Given the description of an element on the screen output the (x, y) to click on. 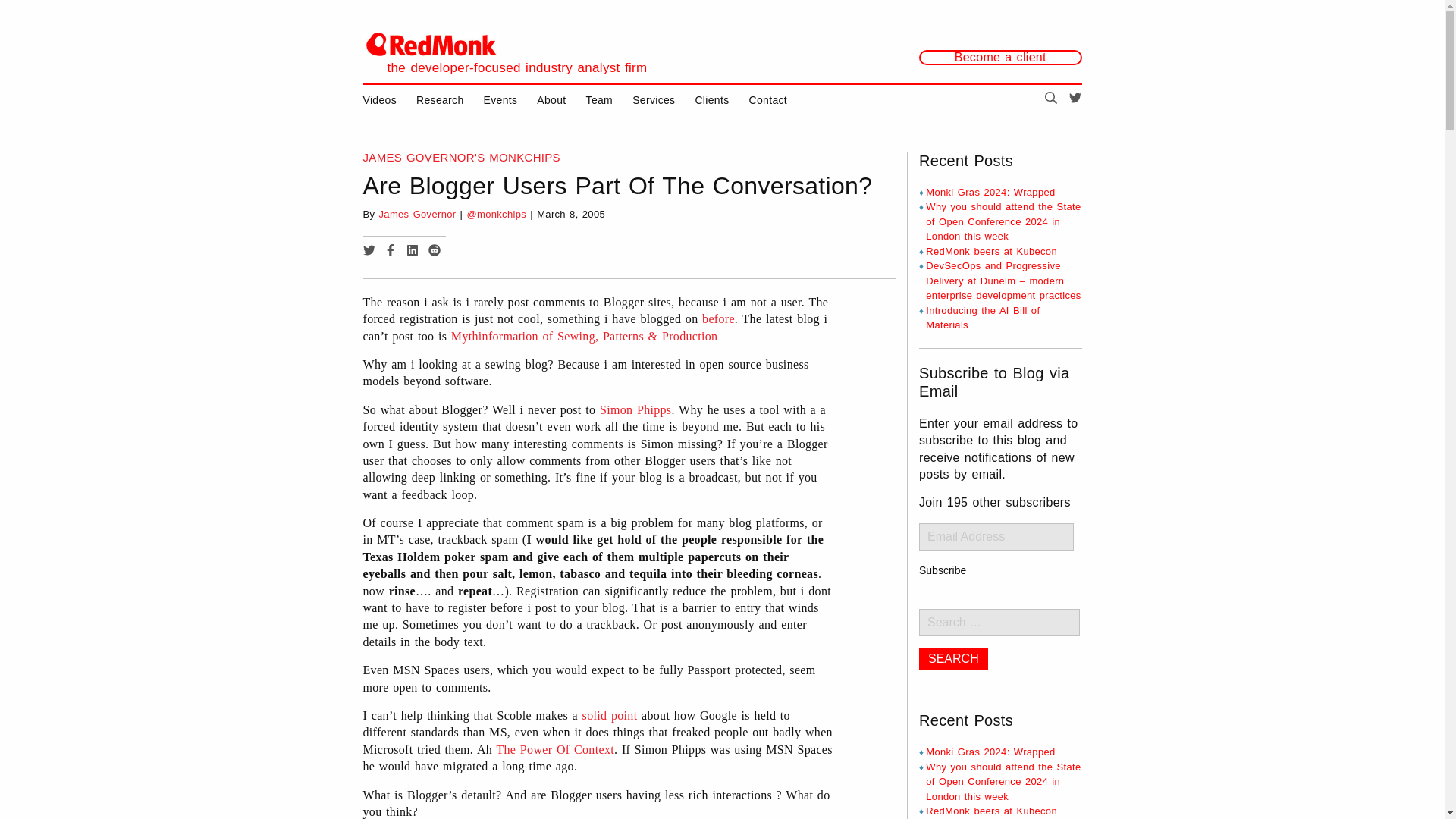
Become a client (999, 57)
Share via Linkedin (412, 251)
Simon Phipps (635, 409)
Videos (379, 100)
Search (953, 658)
Research (439, 100)
Events (500, 100)
About (551, 100)
Services (653, 100)
Share via Reddit (434, 251)
